Given the description of an element on the screen output the (x, y) to click on. 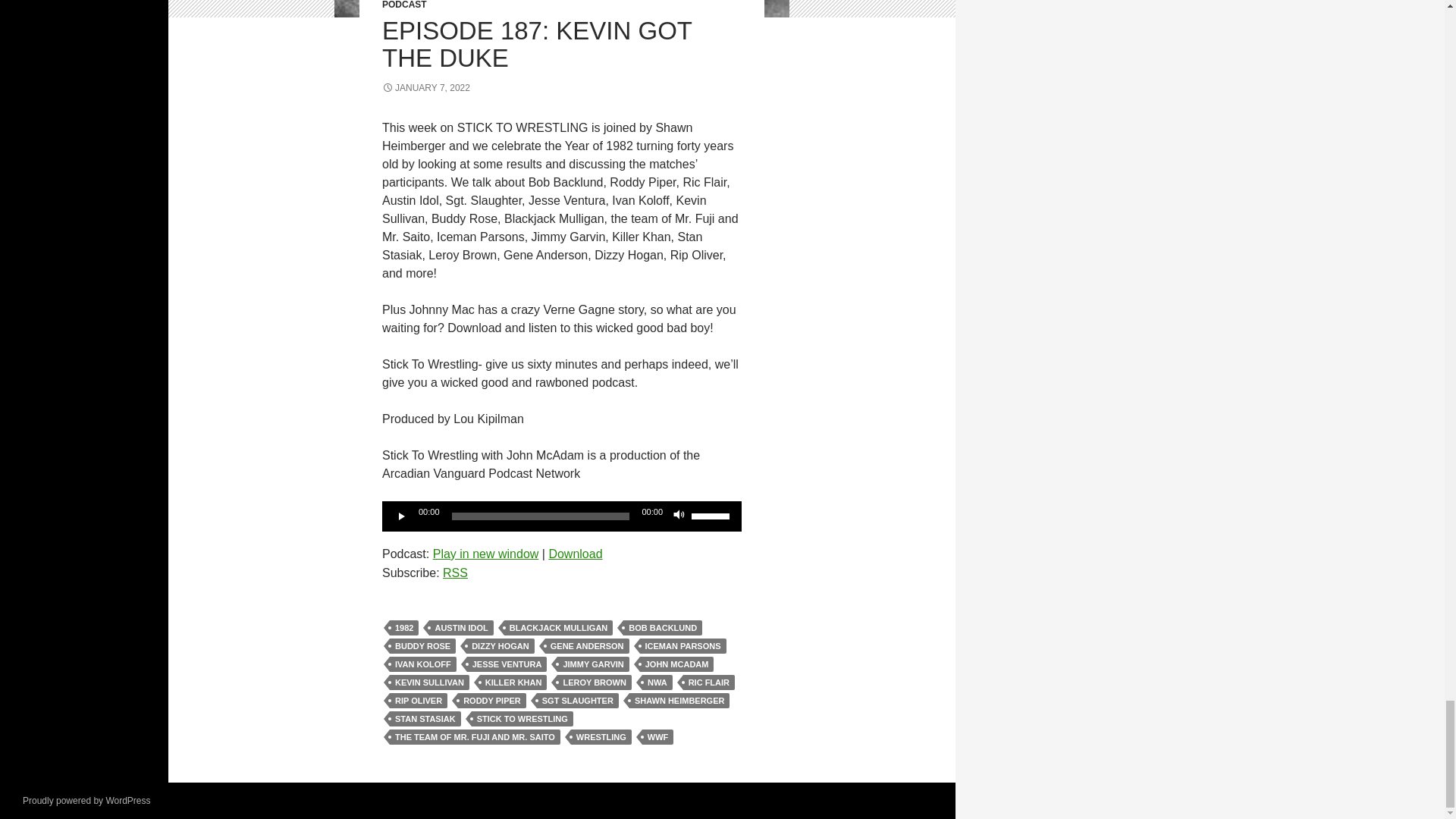
Mute (679, 516)
Play in new window (485, 553)
Play (401, 516)
Download (575, 553)
